Given the description of an element on the screen output the (x, y) to click on. 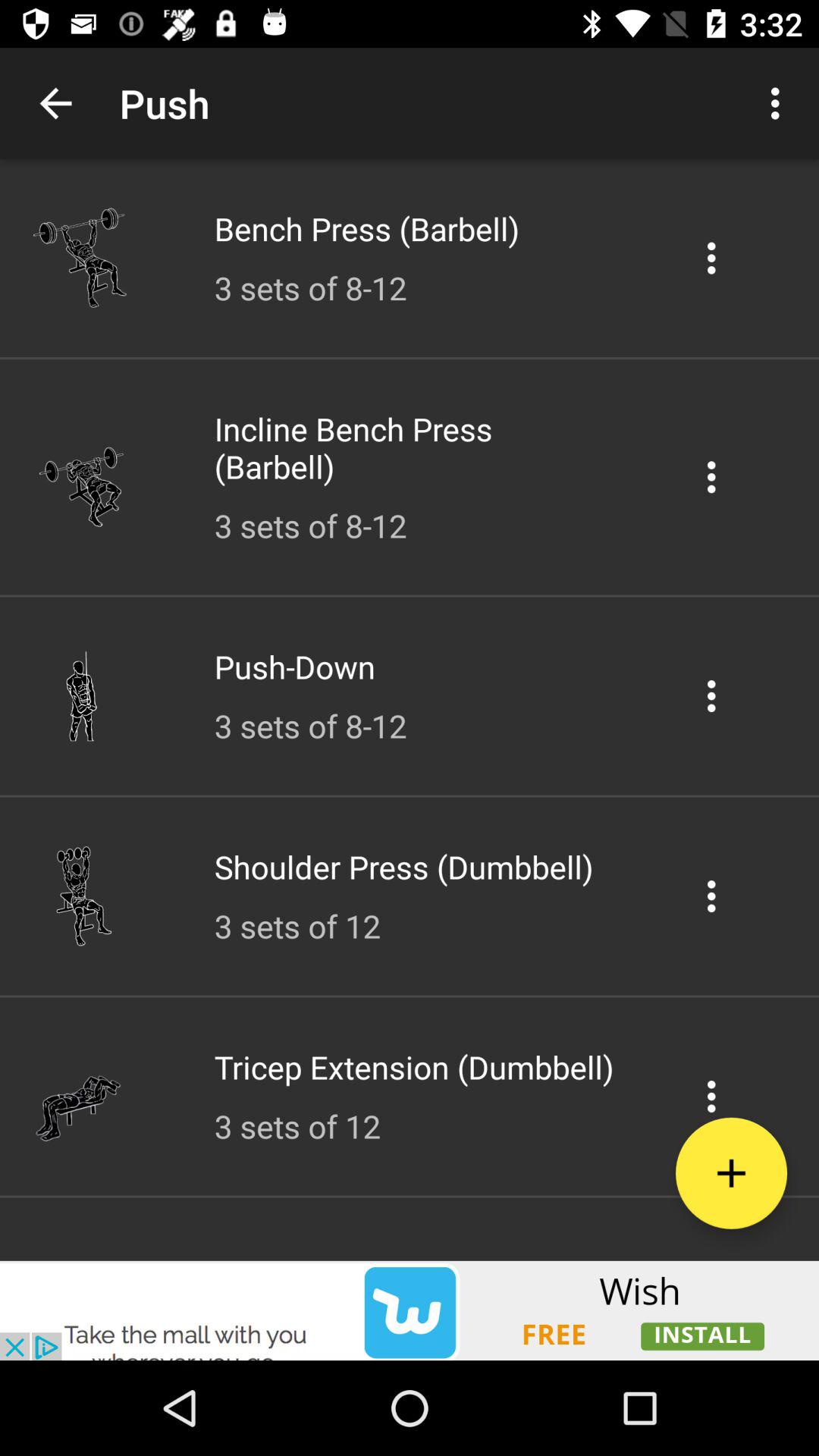
incline bench press options (711, 477)
